Given the description of an element on the screen output the (x, y) to click on. 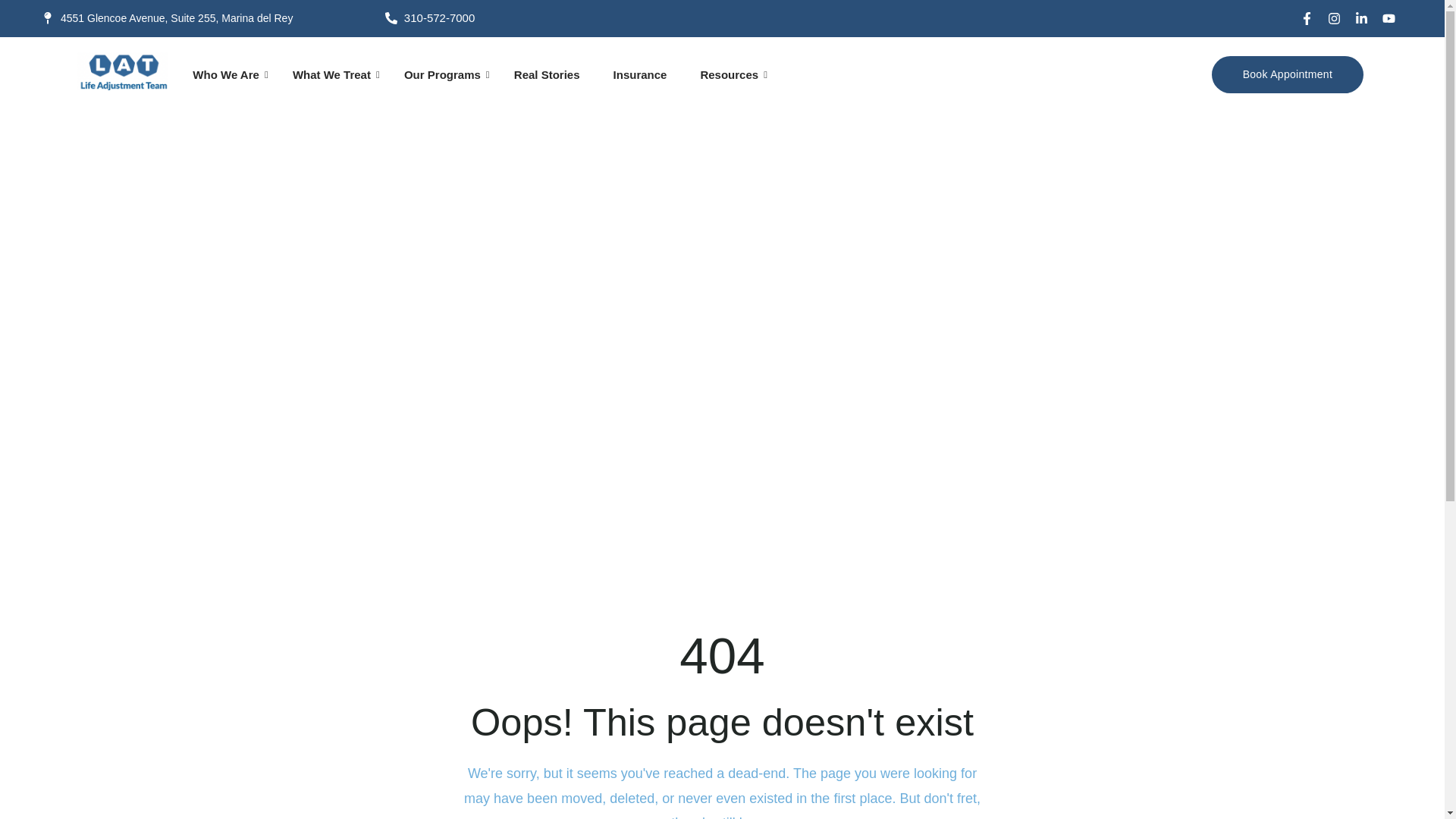
Our Programs (441, 74)
Insurance (640, 74)
What We Treat (331, 74)
4551 Glencoe Avenue, Suite 255, Marina del Rey (209, 18)
310-572-7000 (519, 18)
Real Stories (547, 74)
Who We Are (225, 74)
Resources (728, 74)
